Given the description of an element on the screen output the (x, y) to click on. 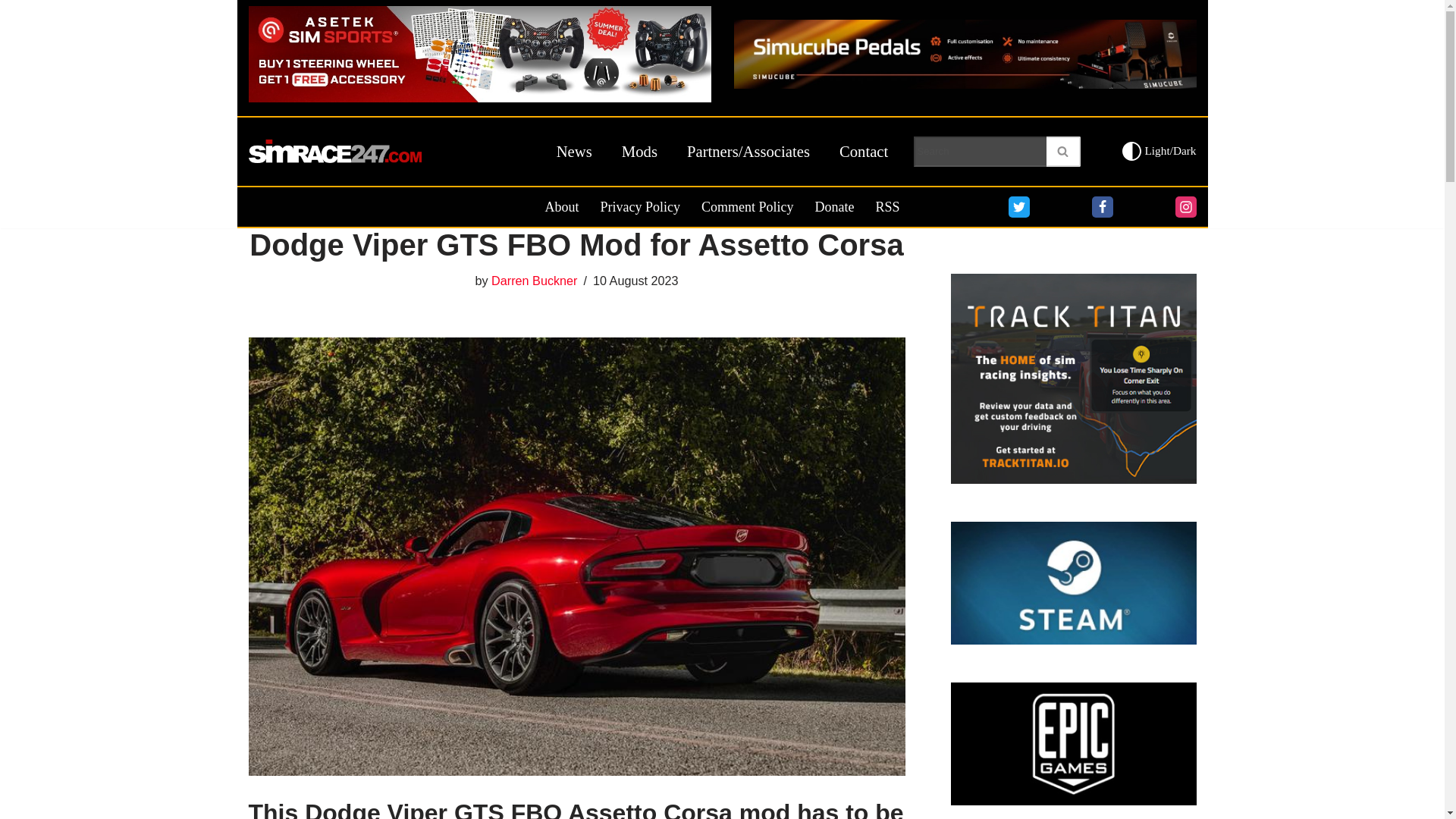
Instagram (1185, 206)
News (574, 151)
RSS (887, 206)
Twitter (1019, 206)
Donate (833, 206)
Privacy Policy (639, 206)
Posts by Darren Buckner (534, 280)
Skip to content (11, 31)
Contact (864, 151)
Mods (639, 151)
About (561, 206)
Facebook (1102, 206)
Comment Policy (747, 206)
